Given the description of an element on the screen output the (x, y) to click on. 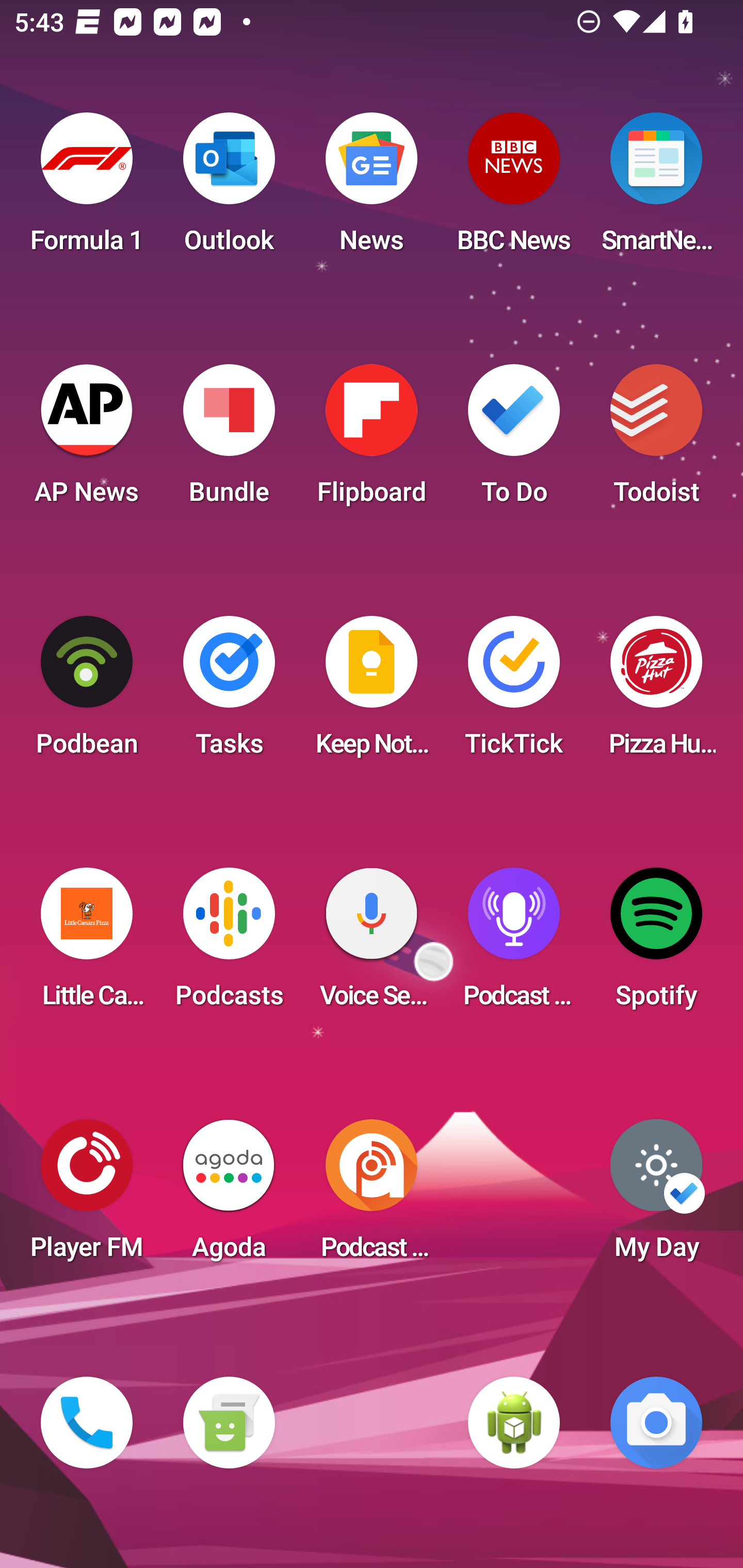
Formula 1 (86, 188)
Outlook (228, 188)
News (371, 188)
BBC News (513, 188)
SmartNews (656, 188)
AP News (86, 440)
Bundle (228, 440)
Flipboard (371, 440)
To Do (513, 440)
Todoist (656, 440)
Podbean (86, 692)
Tasks (228, 692)
Keep Notes (371, 692)
TickTick (513, 692)
Pizza Hut HK & Macau (656, 692)
Little Caesars Pizza (86, 943)
Podcasts (228, 943)
Voice Search (371, 943)
Podcast Player (513, 943)
Spotify (656, 943)
Player FM (86, 1195)
Agoda (228, 1195)
Podcast Addict (371, 1195)
My Day (656, 1195)
Phone (86, 1422)
Messaging (228, 1422)
WebView Browser Tester (513, 1422)
Camera (656, 1422)
